Given the description of an element on the screen output the (x, y) to click on. 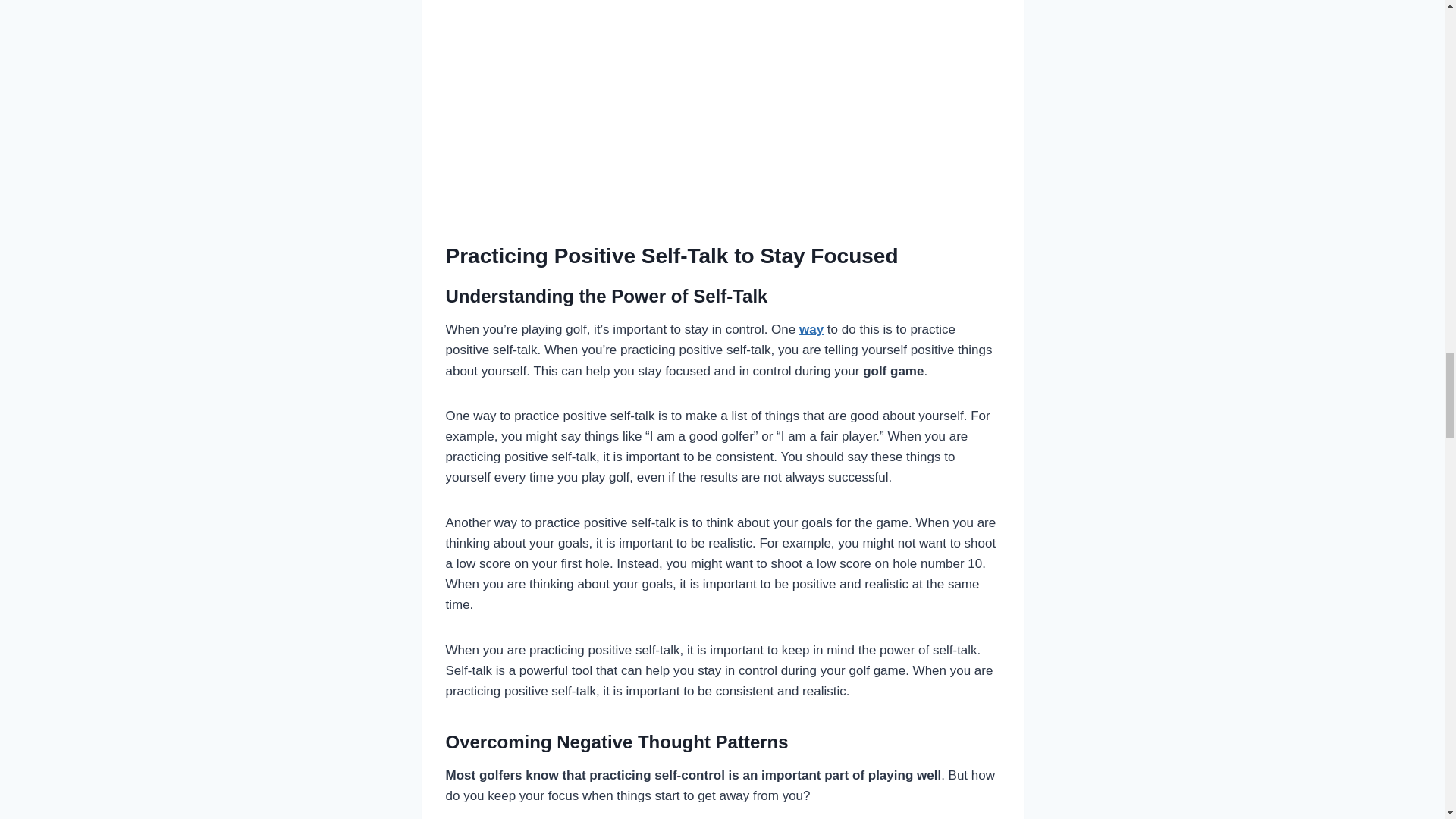
way (811, 329)
